Given the description of an element on the screen output the (x, y) to click on. 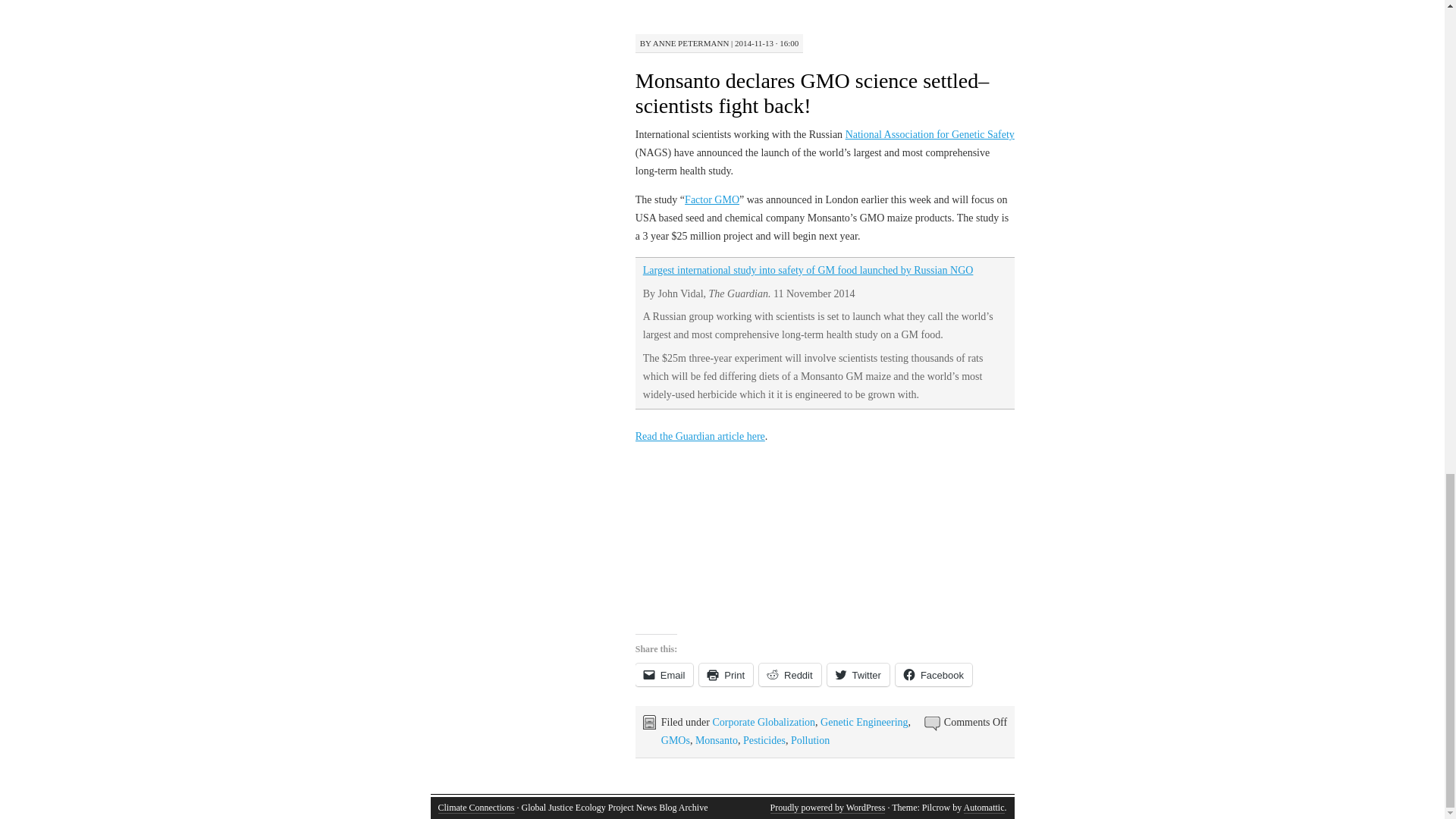
Click to share on Facebook (933, 674)
View all posts by Anne Petermann (690, 42)
Click to share on Twitter (858, 674)
Print (725, 674)
National Association for Genetic Safety (929, 134)
Click to share on Reddit (789, 674)
Factor GMO (711, 199)
Read the Guardian article here (699, 436)
Click to print (725, 674)
ANNE PETERMANN (690, 42)
